Given the description of an element on the screen output the (x, y) to click on. 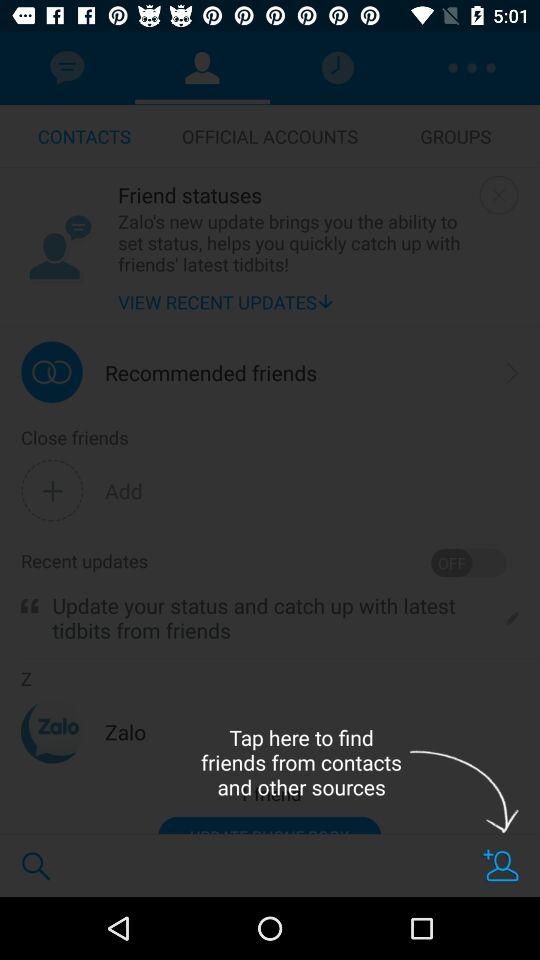
open icon above friend statuses icon (269, 136)
